Given the description of an element on the screen output the (x, y) to click on. 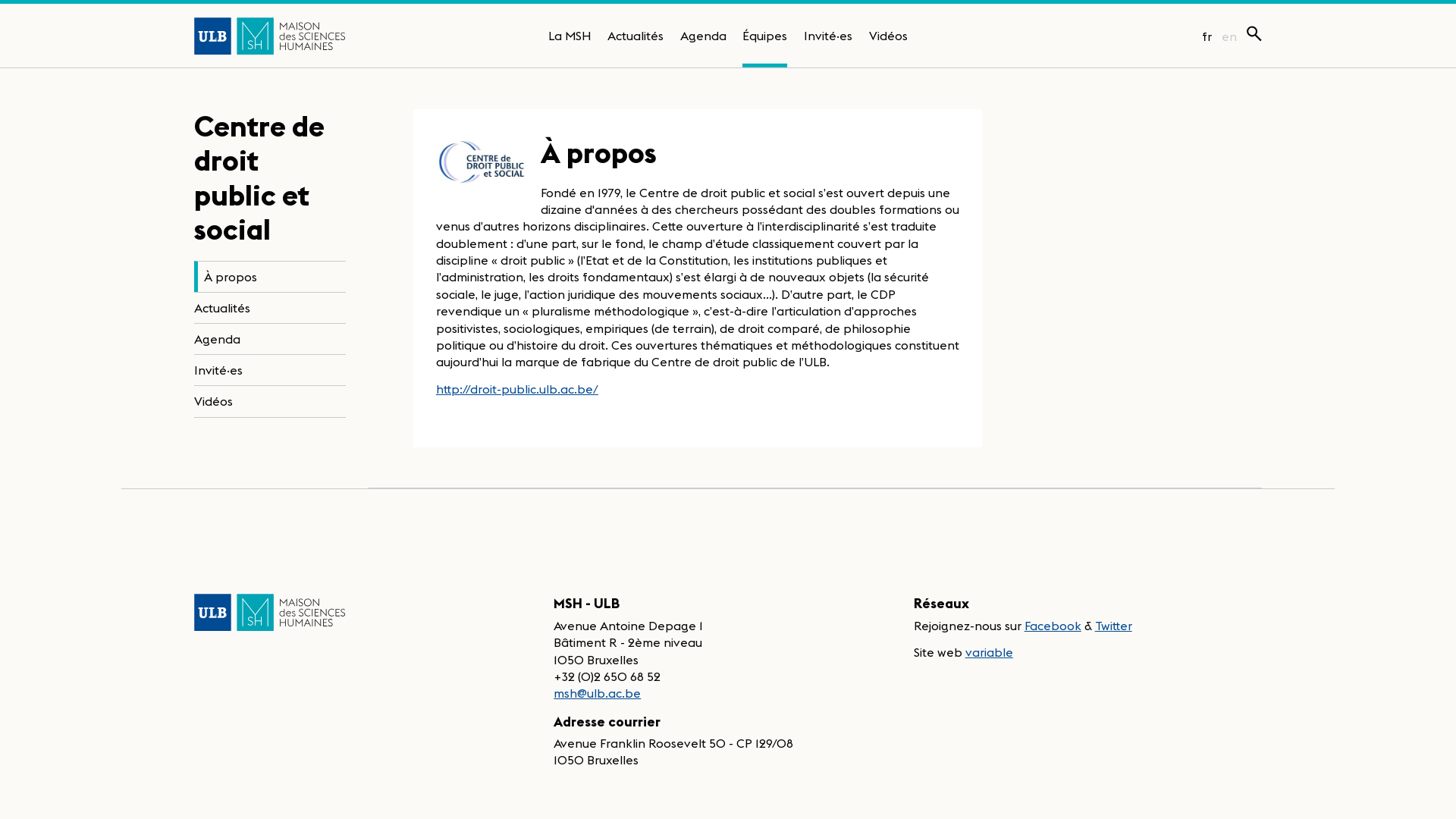
http://droit-public.ulb.ac.be/ Element type: text (517, 388)
Agenda Element type: text (703, 35)
msh@ulb.ac.be Element type: text (596, 692)
fr Element type: text (1206, 35)
Agenda Element type: text (269, 338)
variable Element type: text (989, 651)
Twitter Element type: text (1113, 625)
en Element type: text (1228, 35)
Facebook Element type: text (1052, 625)
La MSH Element type: text (569, 35)
